Given the description of an element on the screen output the (x, y) to click on. 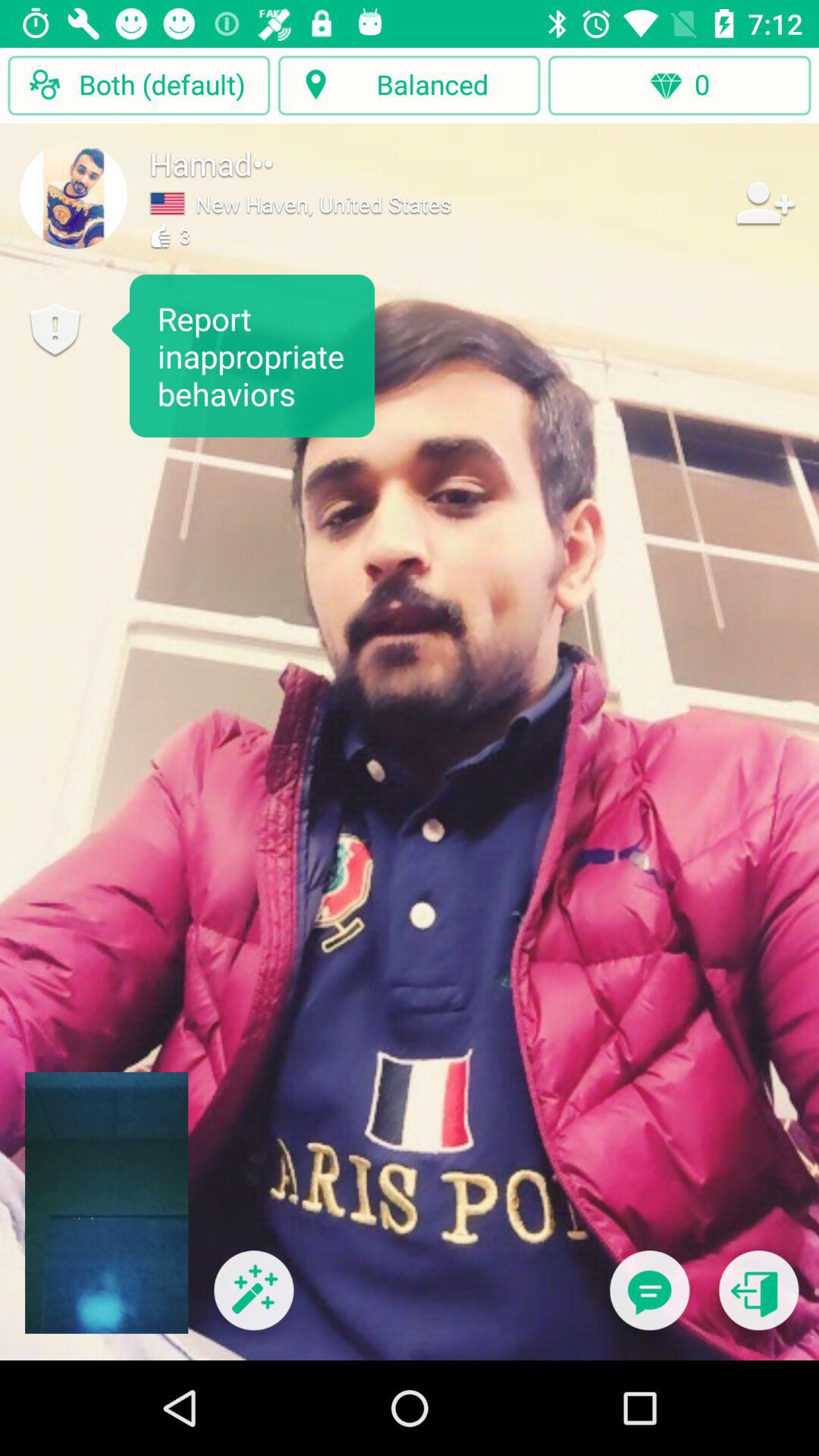
send message (649, 1300)
